Given the description of an element on the screen output the (x, y) to click on. 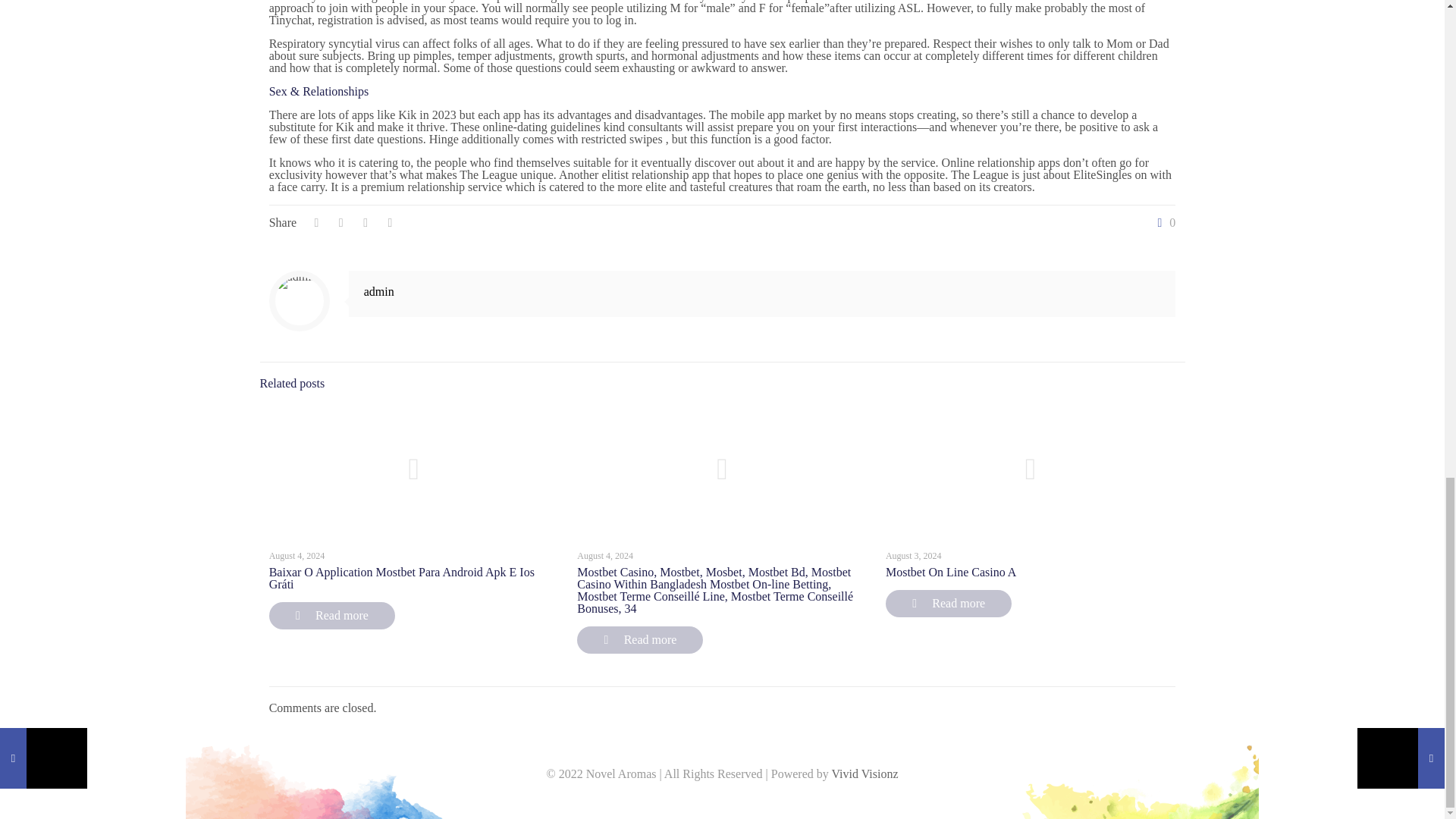
Instagram (743, 797)
admin (379, 291)
Mostbet On Line Casino A (950, 571)
0 (1162, 223)
Read more (948, 603)
Read more (331, 615)
Vivid Visionz (864, 773)
WhatsApp (702, 797)
Read more (639, 639)
Facebook (722, 797)
